Given the description of an element on the screen output the (x, y) to click on. 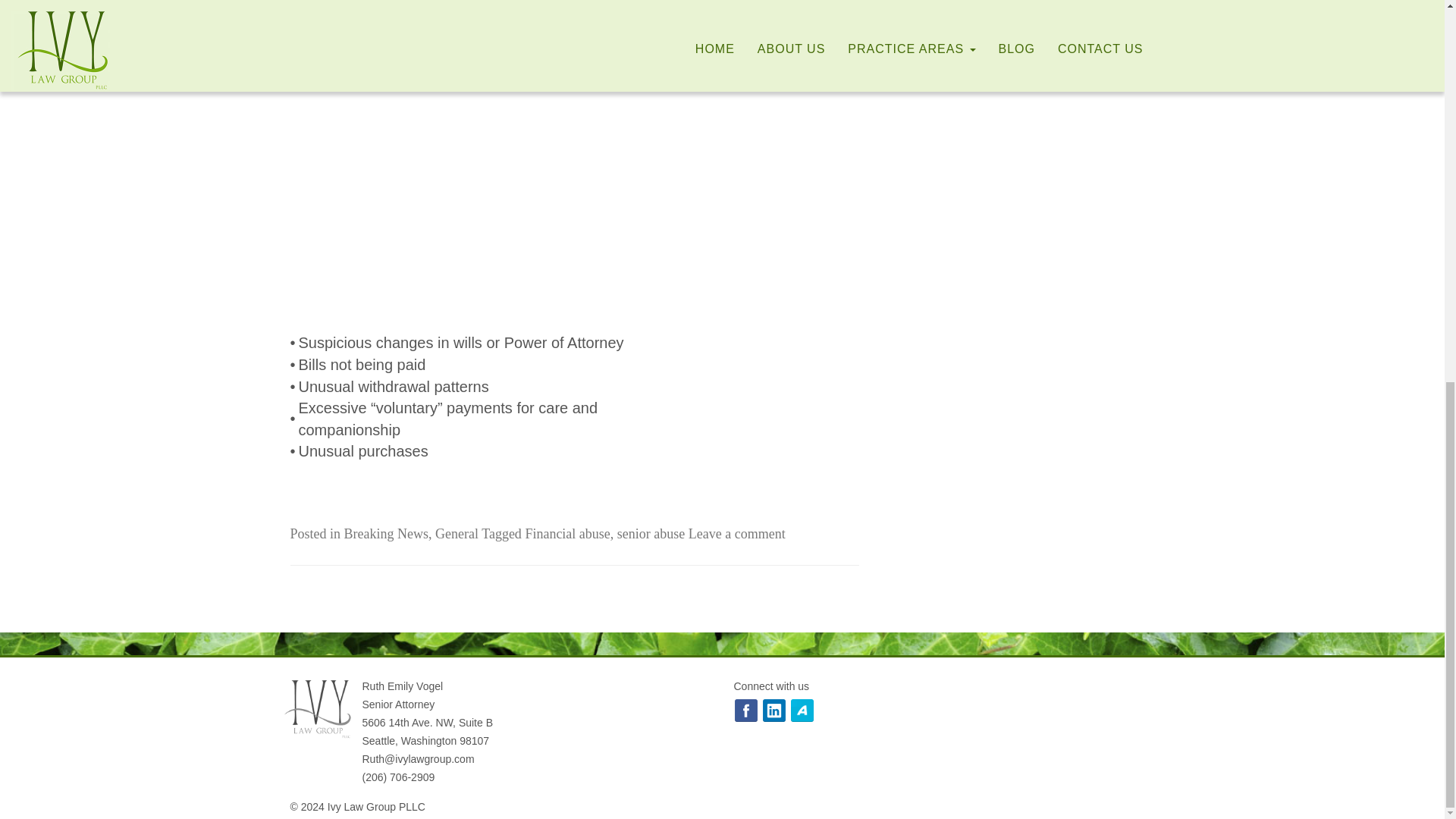
Financial abuse (567, 533)
General (457, 533)
senior abuse (650, 533)
Breaking News (385, 533)
Leave a comment (737, 533)
